Given the description of an element on the screen output the (x, y) to click on. 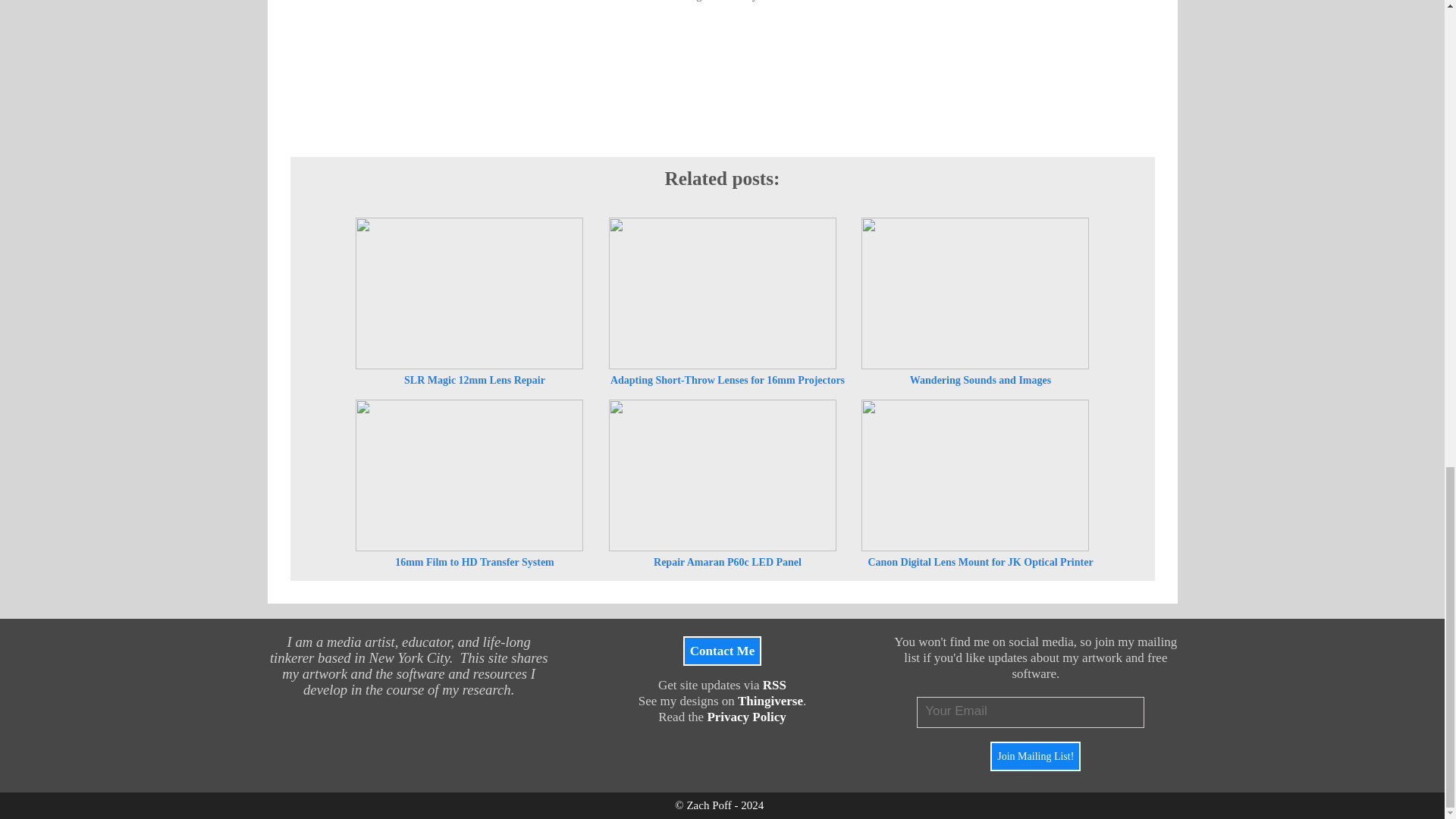
SLR Magic 12mm Lens Repair (469, 293)
Canon Digital Lens Mount for JK Optical Printer (975, 475)
16mm Film to HD Transfer System (469, 475)
Repair Amaran P60c LED Panel (722, 475)
Adapting Short-Throw Lenses for 16mm Projectors (722, 293)
Scroll back to top (1406, 443)
Join Mailing List! (1035, 756)
Wandering Sounds and Images (975, 293)
